Given the description of an element on the screen output the (x, y) to click on. 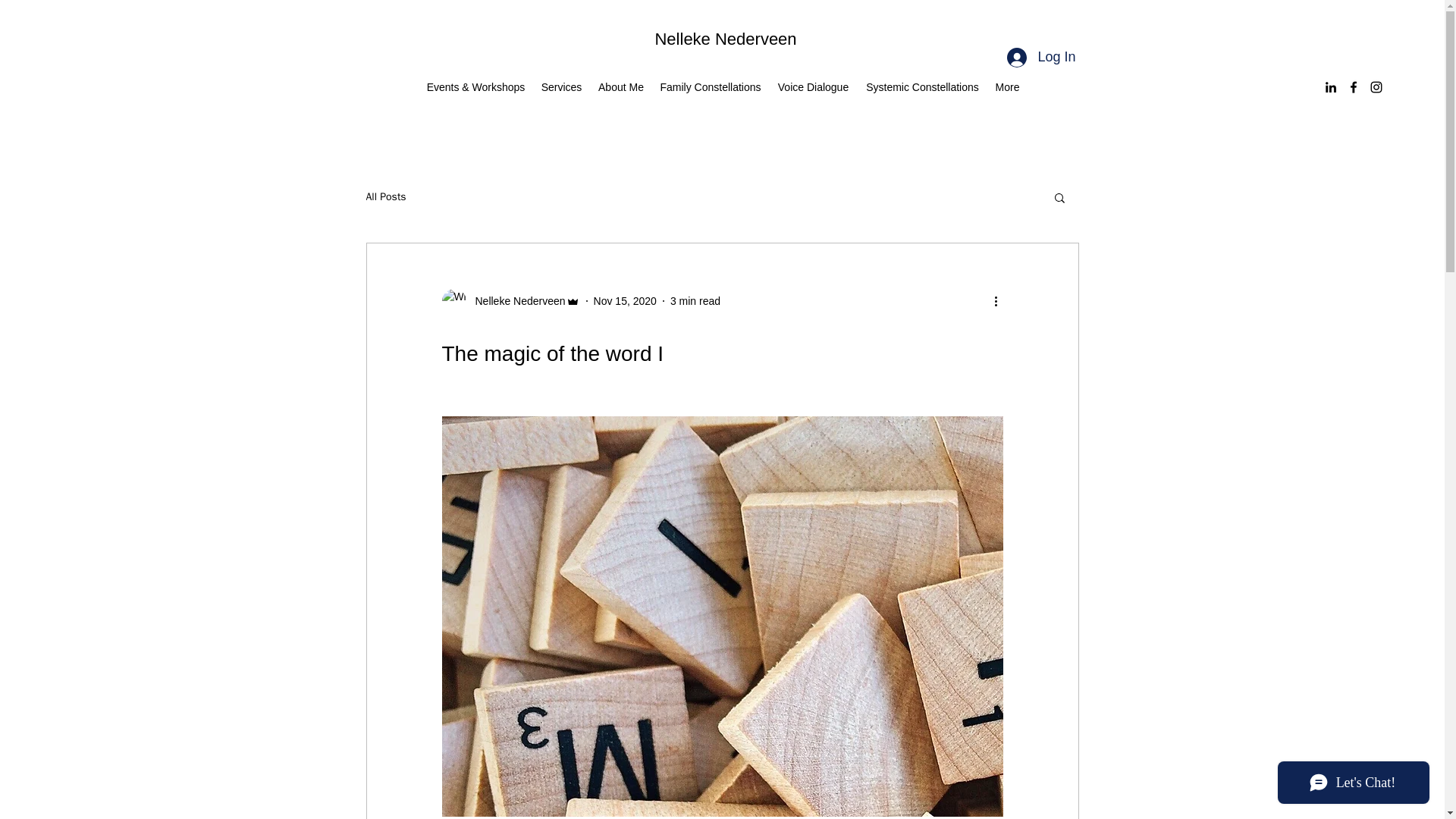
3 min read (694, 300)
Nov 15, 2020 (625, 300)
Nelleke Nederveen (724, 38)
Systemic Constellations (922, 87)
Voice Dialogue (812, 87)
All Posts (385, 196)
Services (560, 87)
About Me (620, 87)
Nelleke Nederveen (510, 300)
Family Constellations (710, 87)
Nelleke Nederveen (514, 301)
Log In (1040, 57)
